Given the description of an element on the screen output the (x, y) to click on. 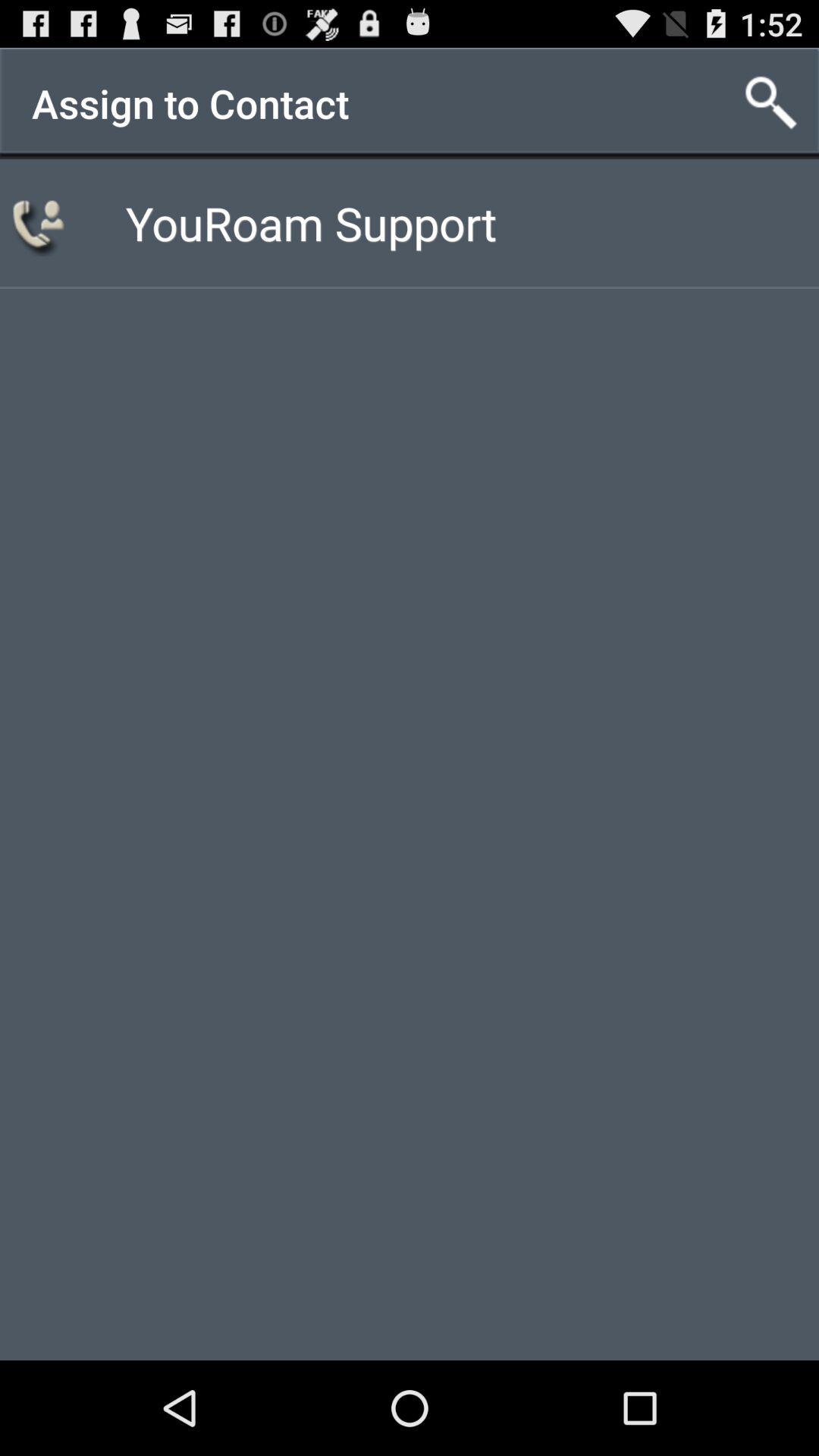
select the item at the top (310, 222)
